Given the description of an element on the screen output the (x, y) to click on. 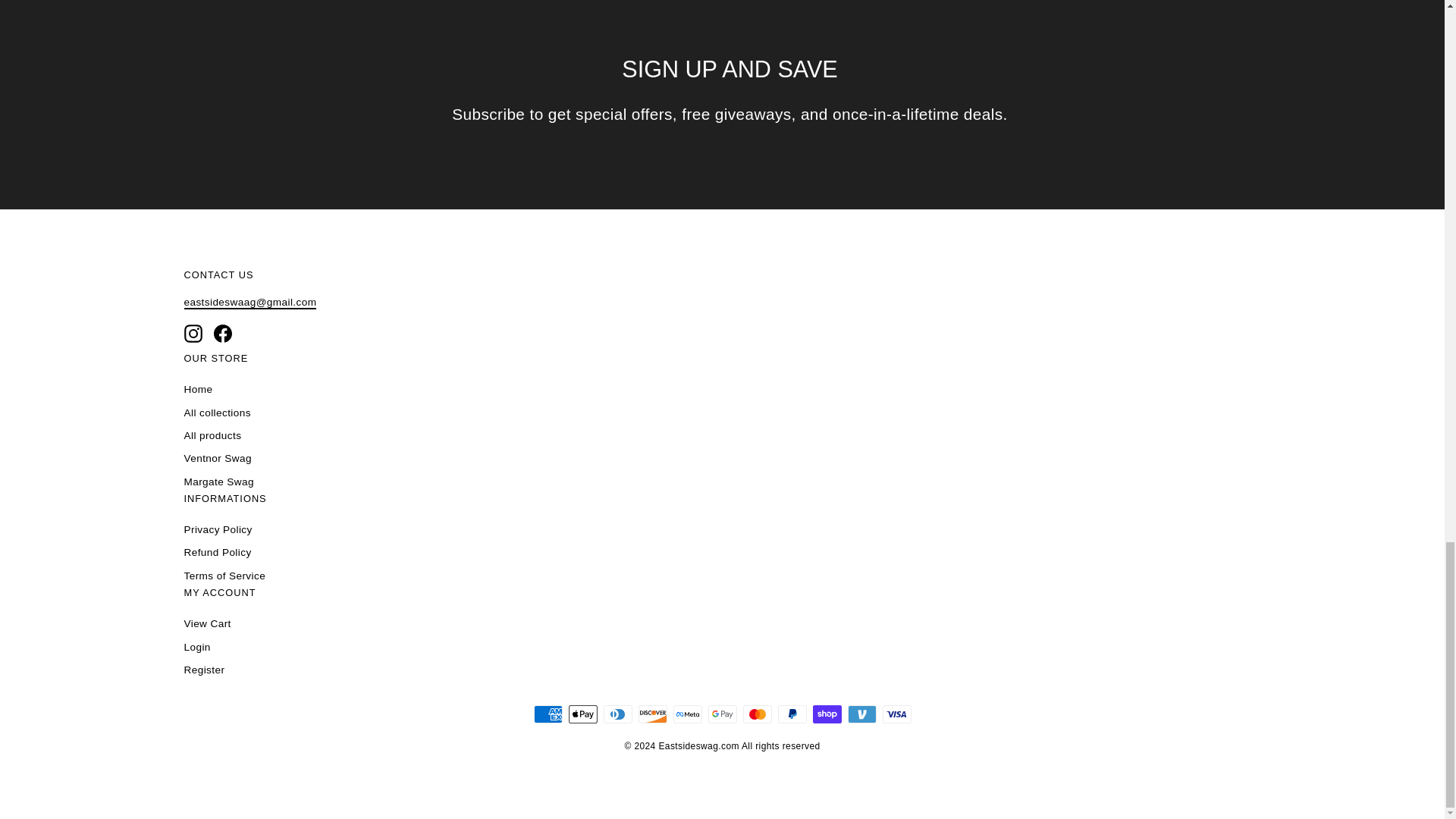
Meta Pay (686, 714)
Eastsideswag.com on Facebook (222, 333)
Mastercard (756, 714)
Google Pay (721, 714)
Discover (652, 714)
American Express (548, 714)
Diners Club (617, 714)
Apple Pay (582, 714)
instagram (192, 333)
PayPal (791, 714)
Eastsideswag.com on Instagram (192, 333)
